Given the description of an element on the screen output the (x, y) to click on. 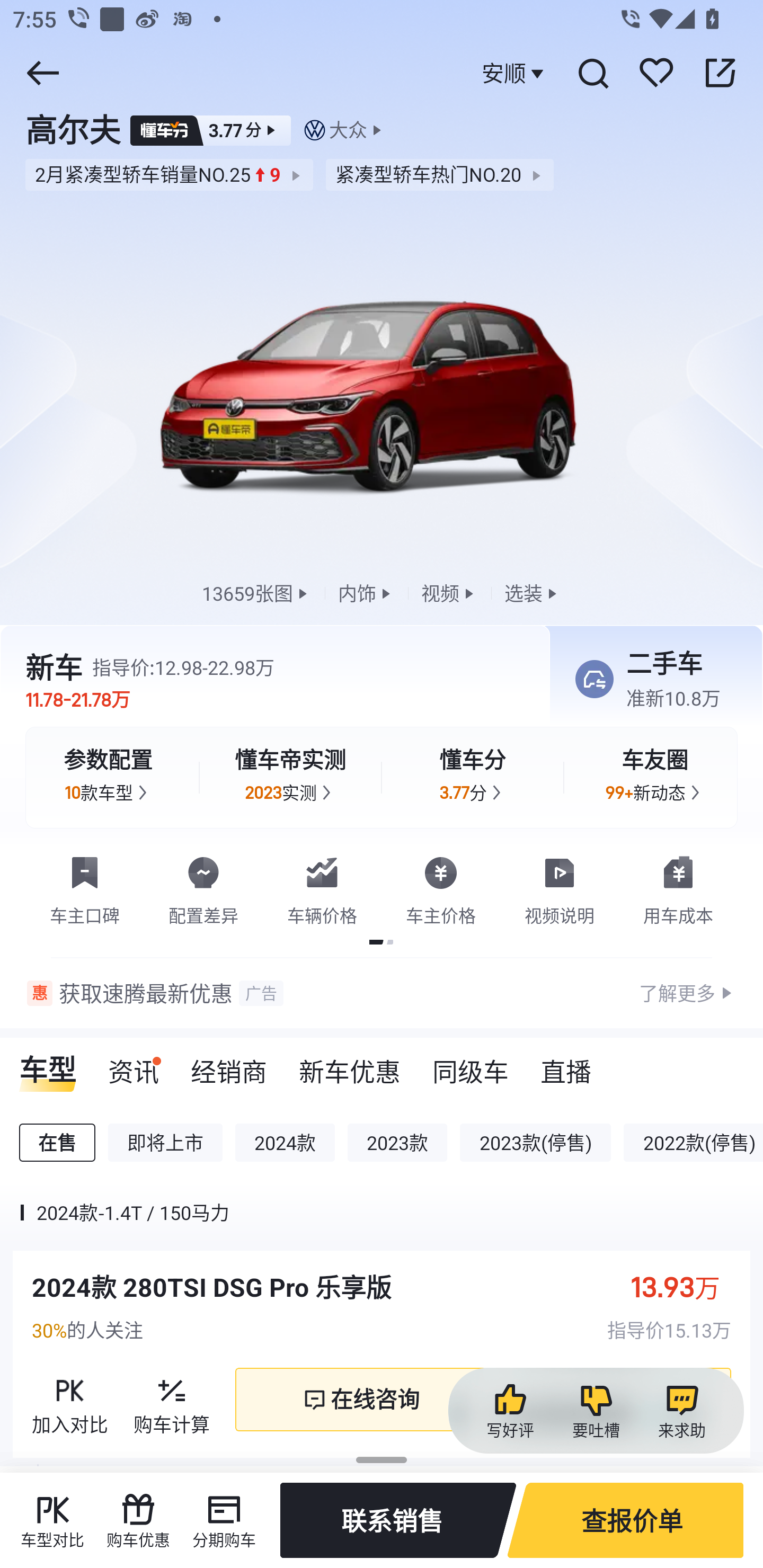
 (42, 72)
 (592, 72)
 (720, 72)
安顺 (514, 73)
大众 (347, 130)
2月紧凑型轿车销量NO.259  (168, 174)
紧凑型轿车热门NO.20  (439, 174)
13659张图 (257, 592)
内饰 (366, 592)
视频 (449, 592)
选装 (532, 592)
二手车 准新10.8万 (650, 679)
指导价:12.98-22.98万 (183, 666)
参数配置 10 款车型  (107, 777)
懂车帝实测 2023 实测  (290, 777)
懂车分 3.77 分  (472, 777)
车友圈 99+ 新动态  (654, 777)
车主口碑 (84, 887)
配置差异 (203, 887)
车辆价格 (321, 887)
车主价格 (440, 887)
视频说明 (559, 887)
用车成本 (677, 887)
惠 获取速腾最新优惠 广告 了解更多  (381, 992)
车型 (47, 1065)
资讯 (133, 1065)
经销商 (228, 1065)
新车优惠 (349, 1065)
同级车 (470, 1065)
直播 (565, 1065)
在售 (57, 1142)
即将上市 (165, 1142)
2024款 (284, 1142)
2023款 (397, 1142)
2023款(停售) (535, 1142)
2022款(停售) (693, 1142)
13.93 万 (684, 1287)
加入对比 (70, 1399)
 购车计算 (171, 1399)
在线咨询 (360, 1399)
写好评 (510, 1410)
要吐槽 (595, 1410)
来求助 (681, 1410)
车型对比 (52, 1520)
购车优惠 (138, 1520)
分期购车 (224, 1520)
联系销售 (398, 1519)
查报价单 (625, 1519)
